Given the description of an element on the screen output the (x, y) to click on. 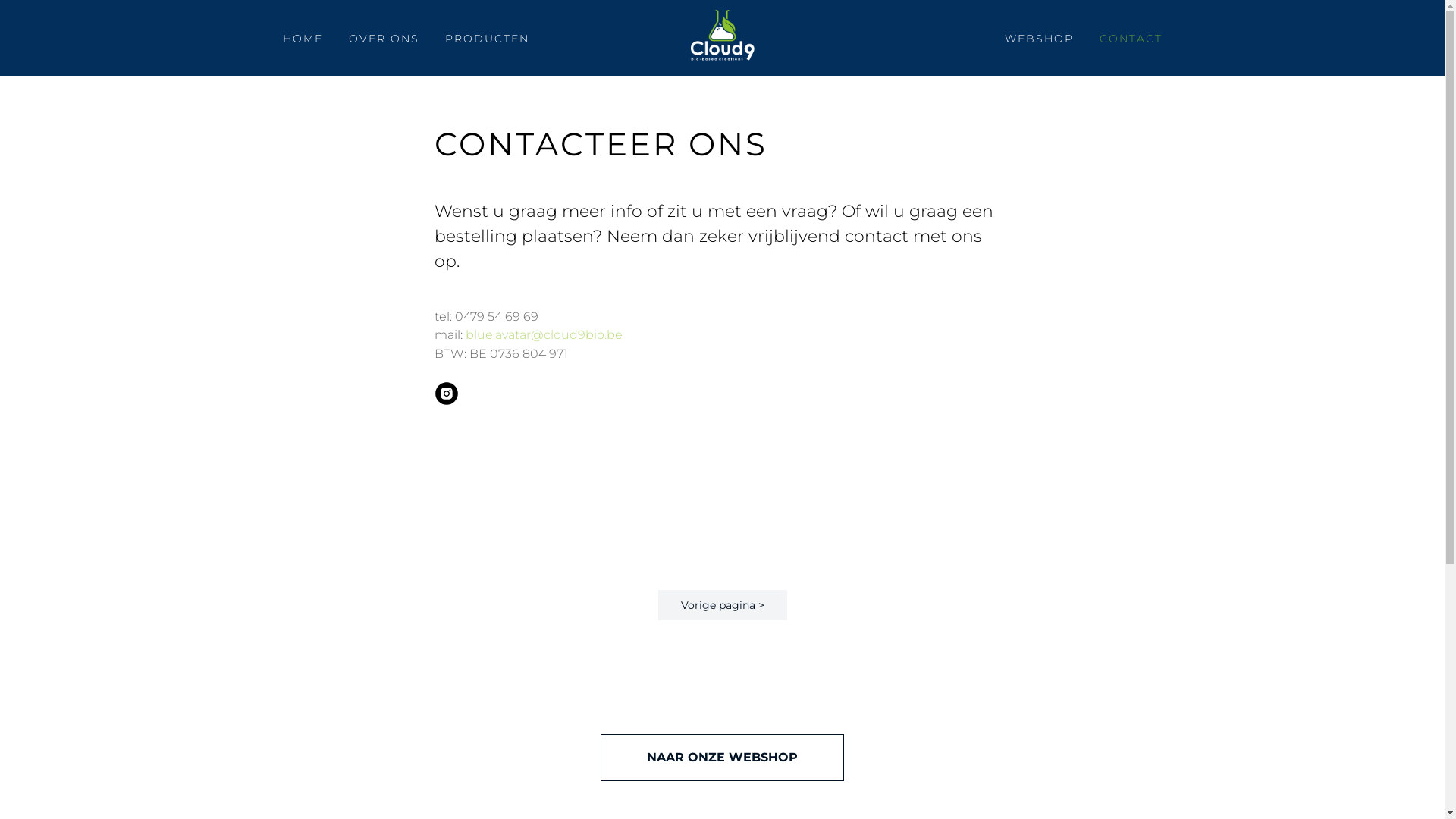
WEBSHOP Element type: text (1038, 38)
OVER ONS Element type: text (383, 38)
Vorige pagina > Element type: text (722, 603)
0479 54 69 69 Element type: text (496, 316)
CONTACT Element type: text (1130, 38)
blue.avatar@cloud9bio.be Element type: text (543, 334)
NAAR ONZE WEBSHOP Element type: text (722, 755)
PRODUCTEN Element type: text (486, 38)
Instagram Element type: text (446, 400)
HOME Element type: text (302, 38)
